Given the description of an element on the screen output the (x, y) to click on. 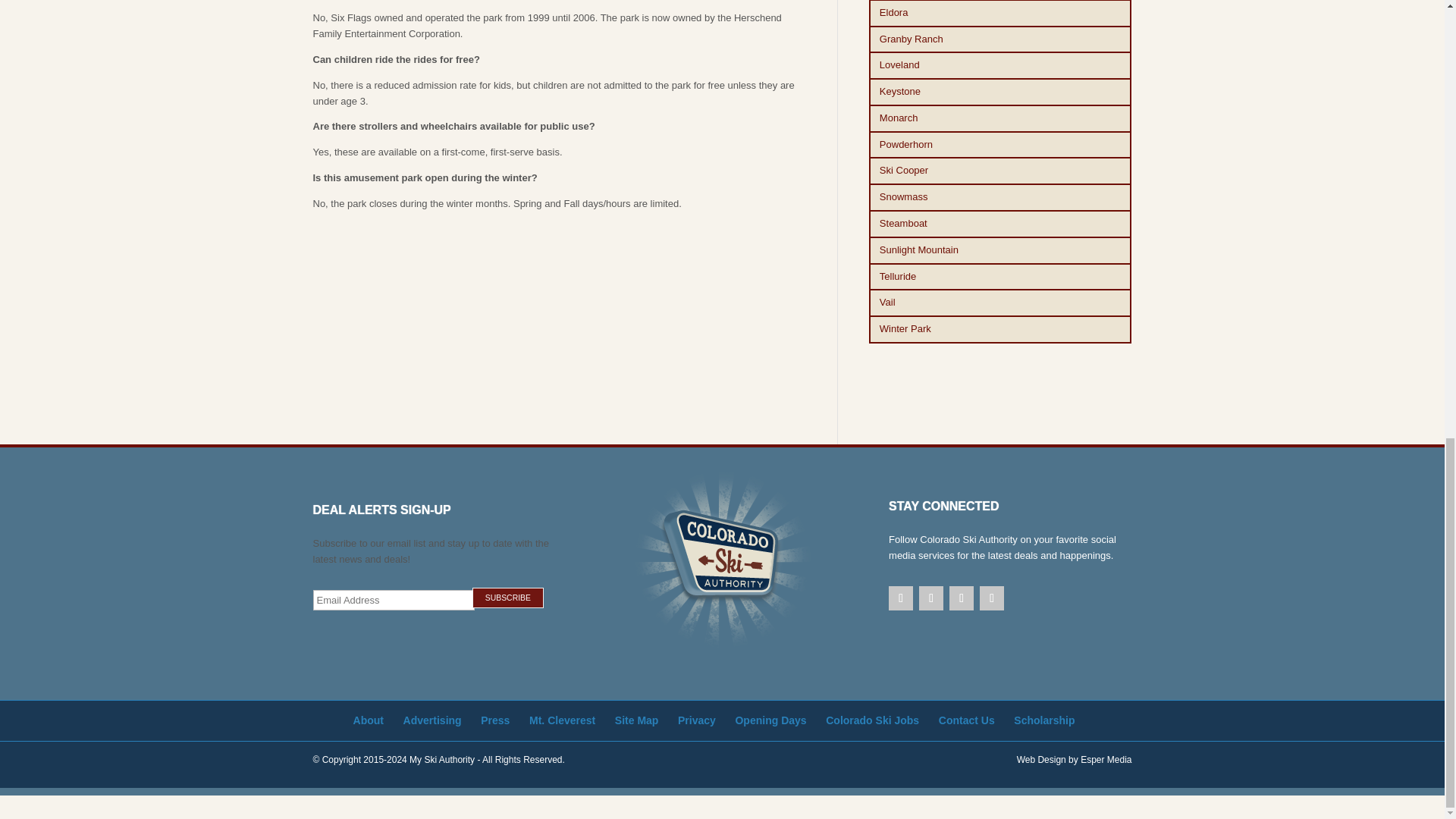
Subscribe (507, 598)
